Given the description of an element on the screen output the (x, y) to click on. 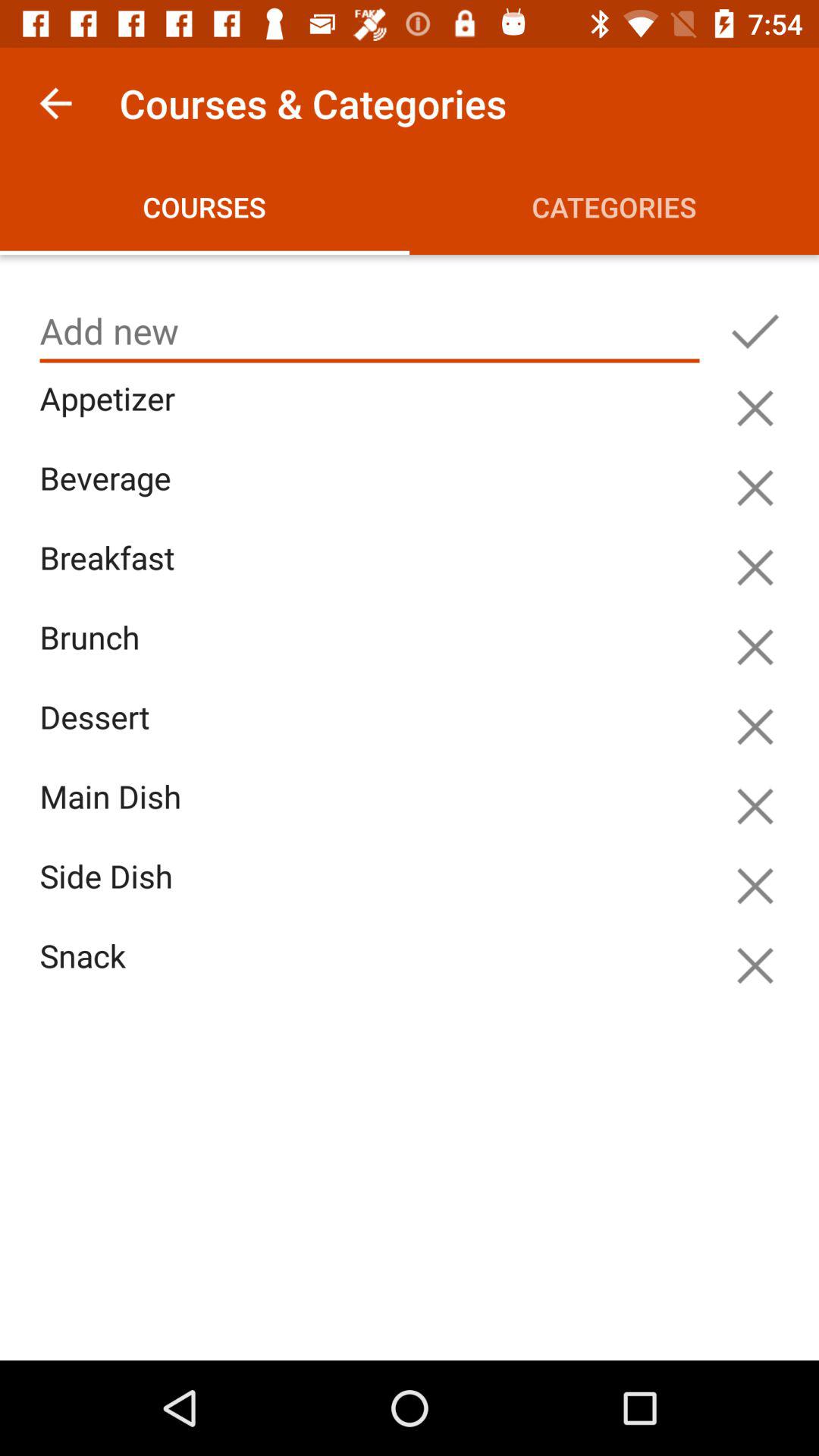
scroll until main dish icon (373, 814)
